Given the description of an element on the screen output the (x, y) to click on. 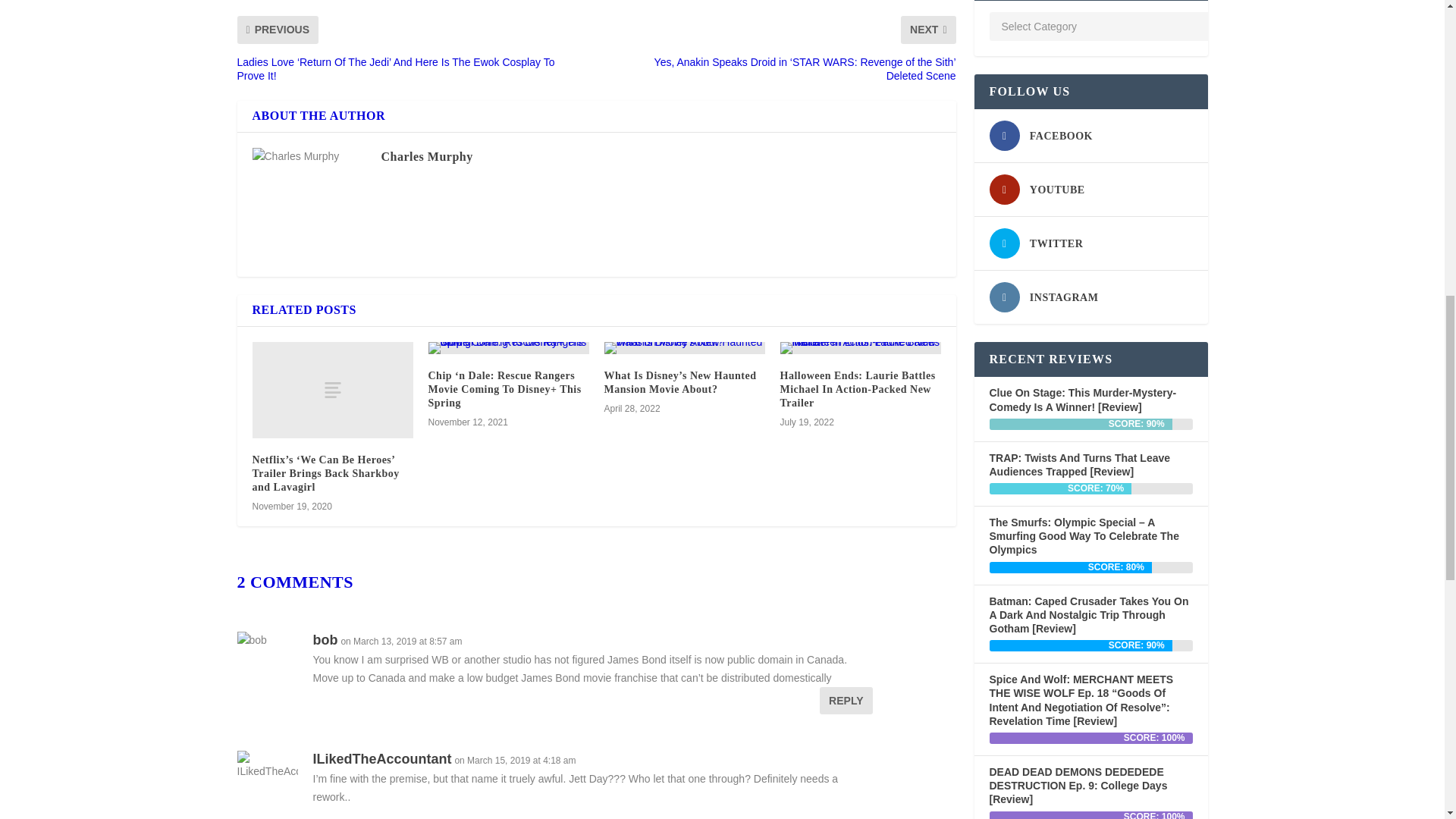
View all posts by Charles Murphy (425, 155)
Charles Murphy (425, 155)
